Given the description of an element on the screen output the (x, y) to click on. 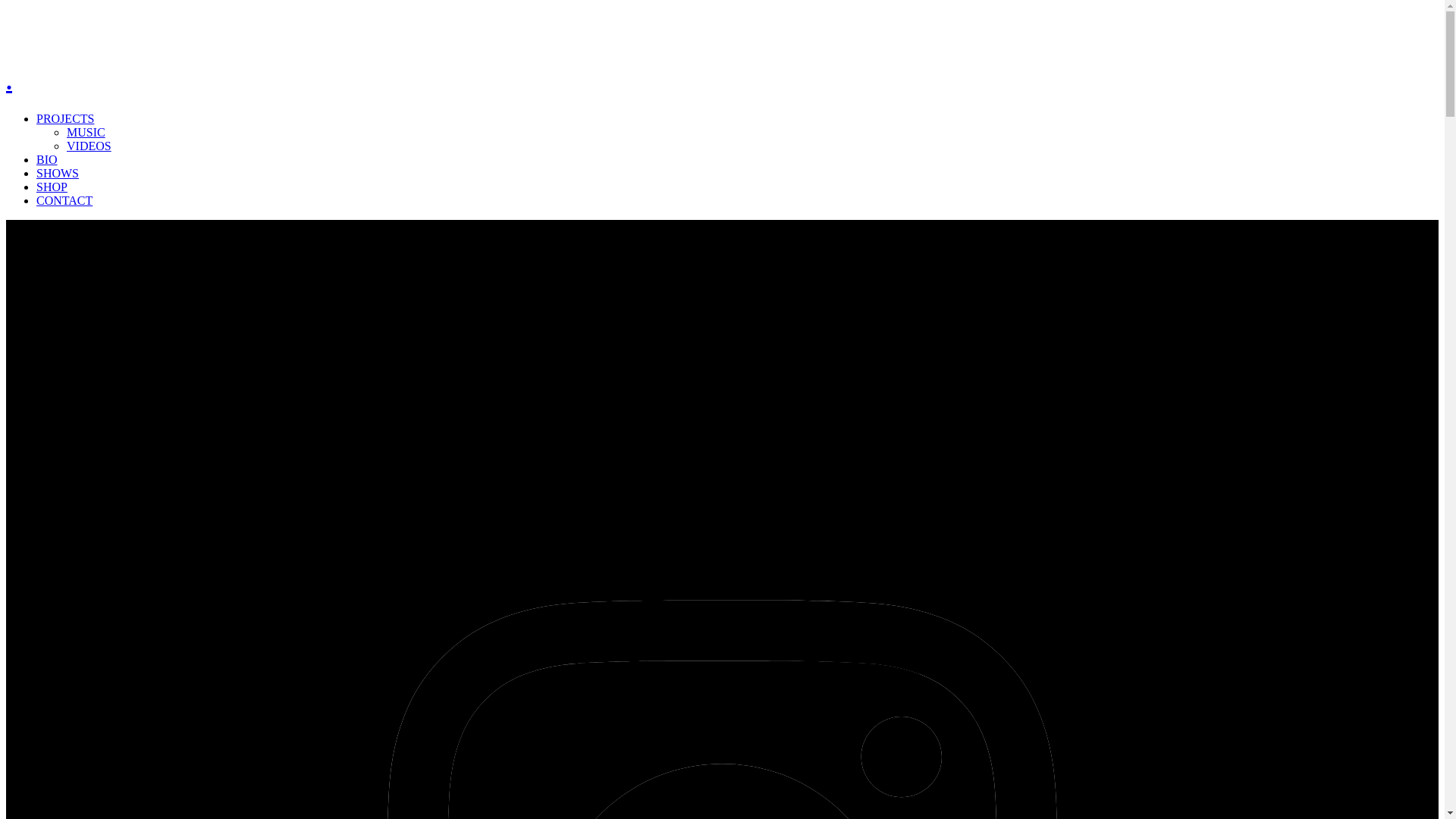
CONTACT Element type: text (64, 200)
VIDEOS Element type: text (88, 145)
SHOP Element type: text (51, 186)
SHOWS Element type: text (57, 172)
MUSIC Element type: text (85, 131)
. Element type: text (9, 80)
BIO Element type: text (46, 159)
PROJECTS Element type: text (65, 118)
